Given the description of an element on the screen output the (x, y) to click on. 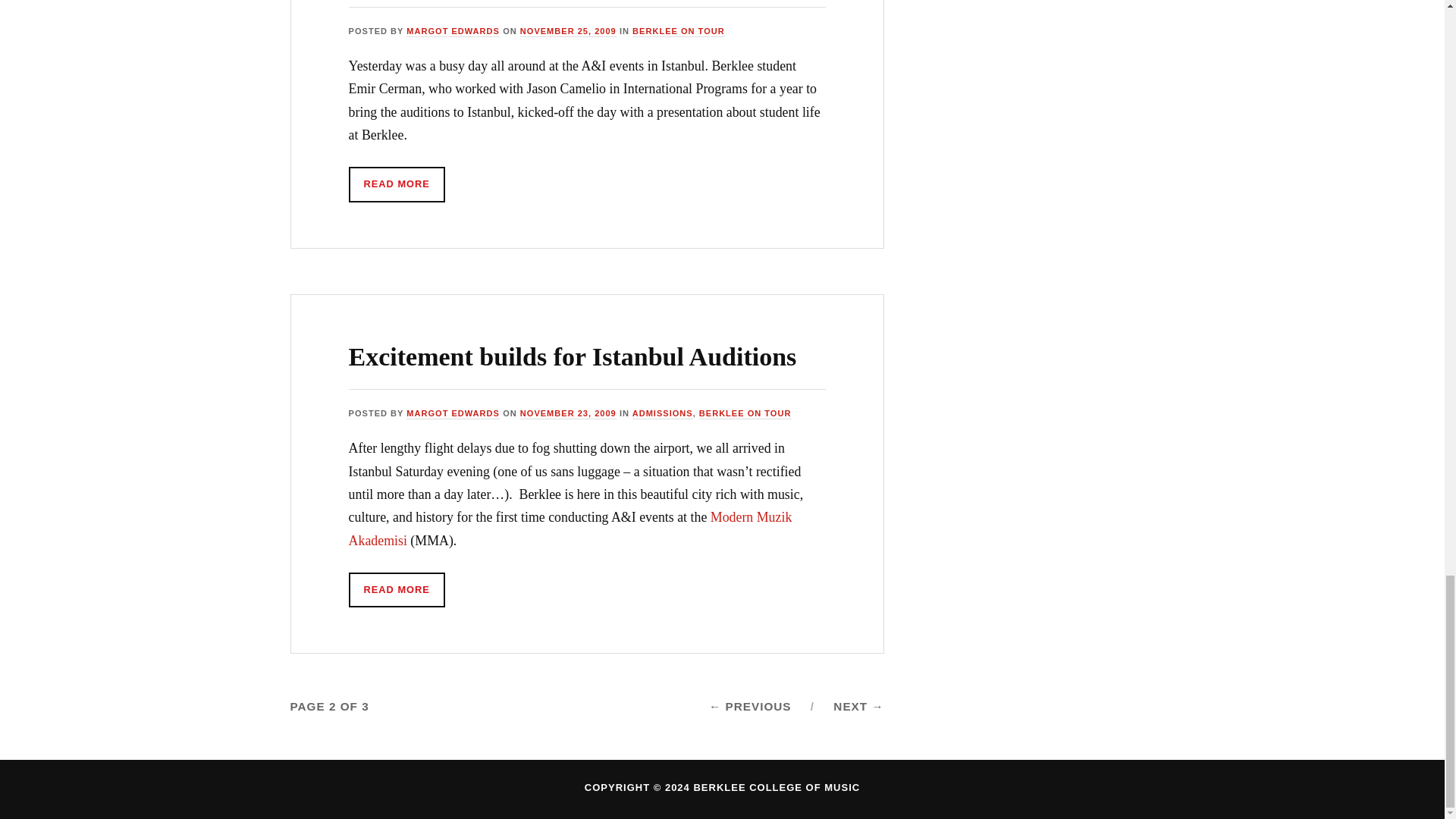
Excitement builds for Istanbul Auditions (572, 357)
MARGOT EDWARDS (452, 413)
Posts by Margot Edwards (452, 413)
Excitement builds for Istanbul Auditions (572, 357)
READ MORE (397, 184)
MARGOT EDWARDS (452, 31)
Posts by Margot Edwards (452, 31)
NOVEMBER 25, 2009 (567, 31)
NOVEMBER 23, 2009 (567, 413)
BERKLEE ON TOUR (745, 413)
